Given the description of an element on the screen output the (x, y) to click on. 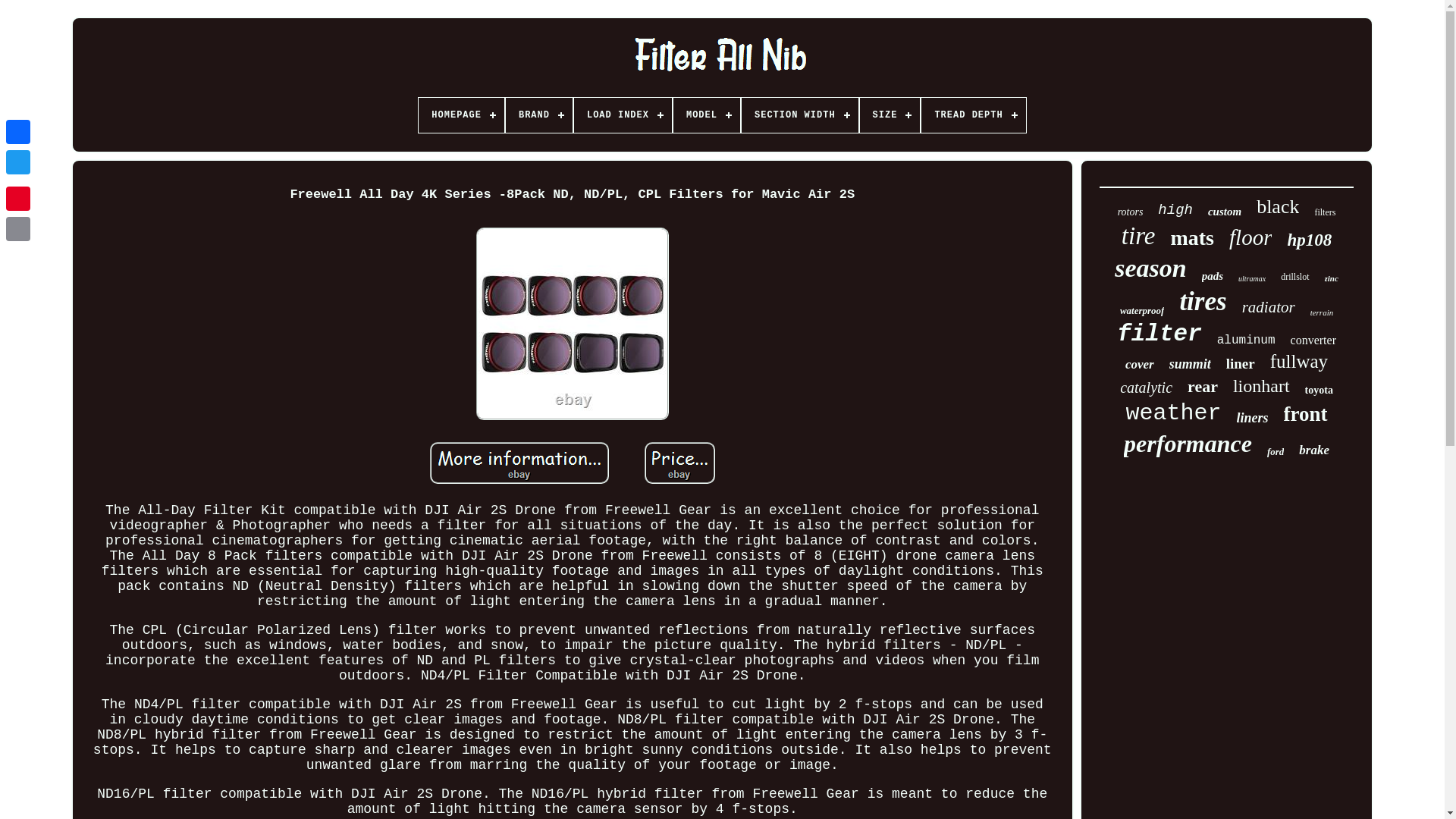
LOAD INDEX (622, 114)
HOMEPAGE (461, 114)
BRAND (538, 114)
